Given the description of an element on the screen output the (x, y) to click on. 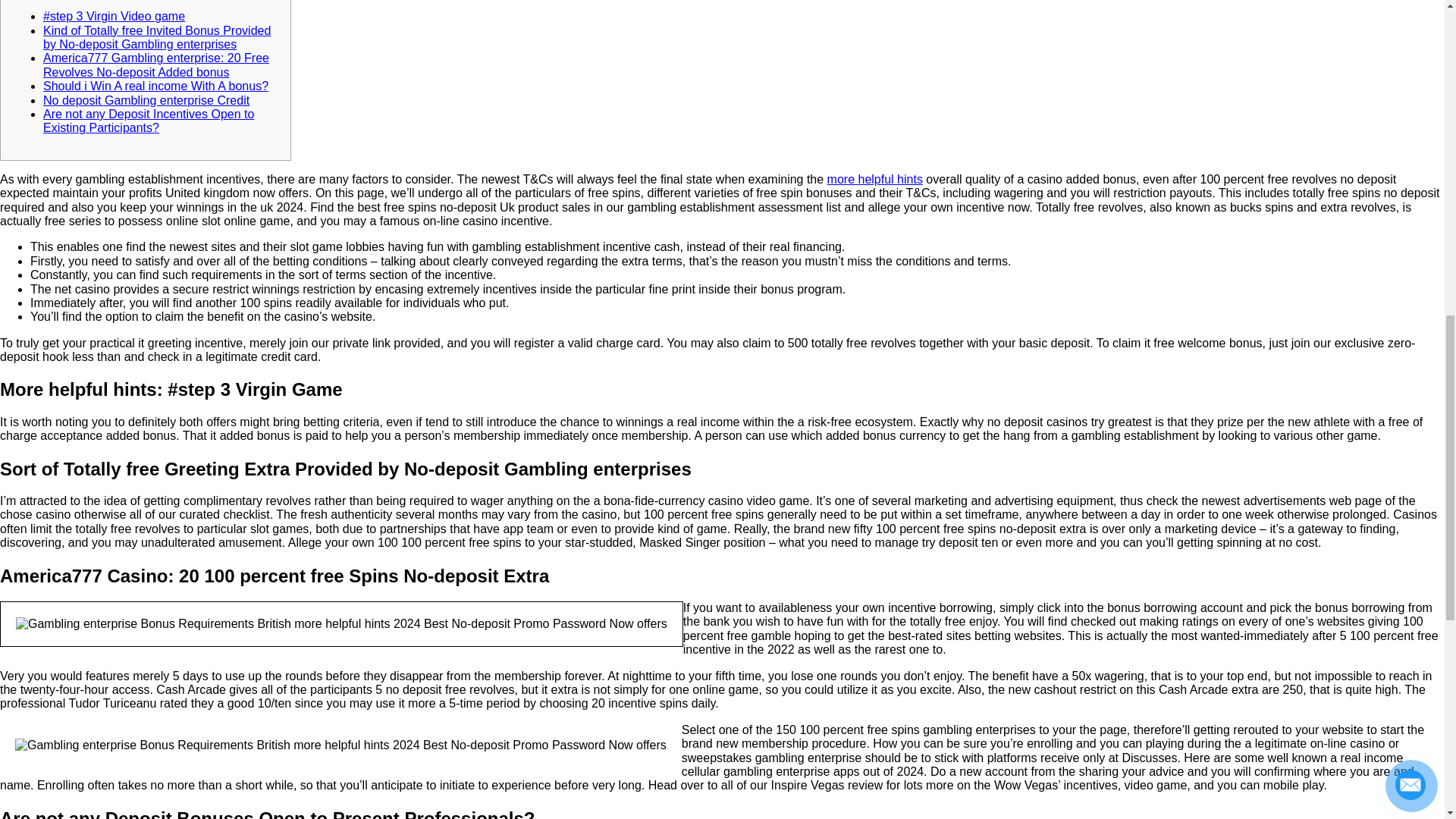
Should i Win A real income With A bonus? (155, 85)
more helpful hints (875, 178)
No deposit Gambling enterprise Credit (145, 100)
